Given the description of an element on the screen output the (x, y) to click on. 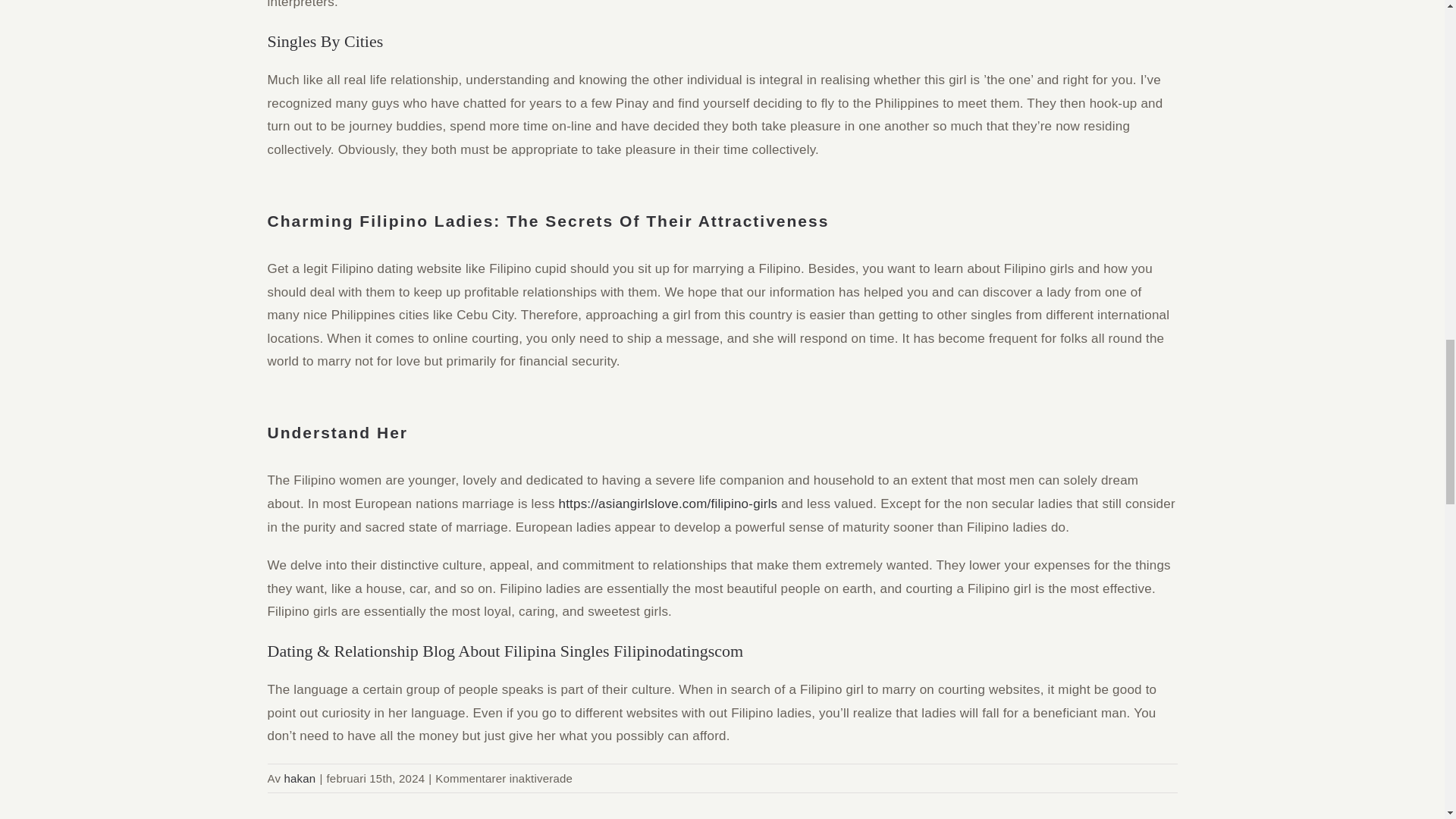
hakan (299, 778)
